Given the description of an element on the screen output the (x, y) to click on. 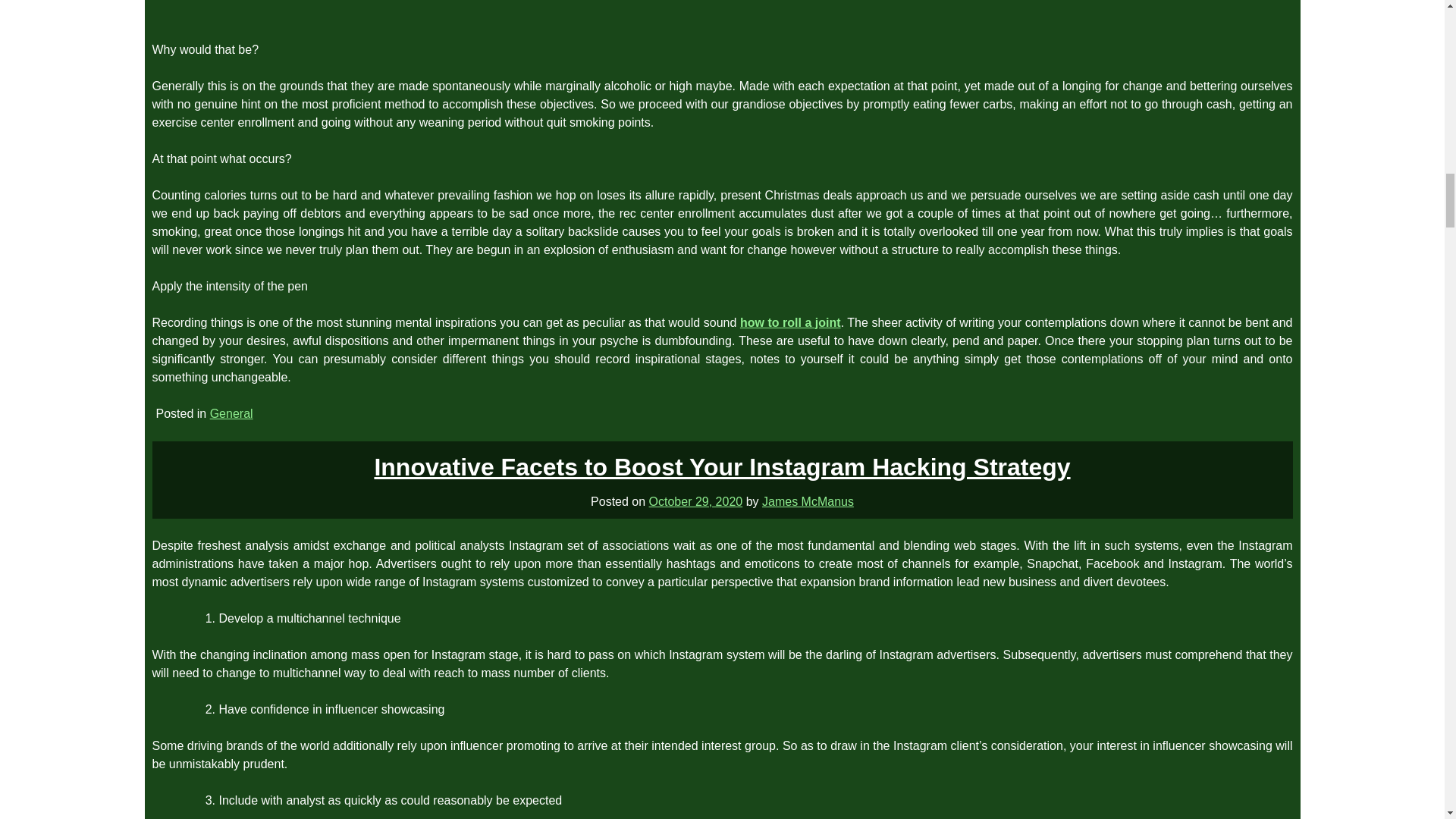
October 29, 2020 (695, 500)
James McManus (807, 500)
General (231, 412)
how to roll a joint (790, 321)
Innovative Facets to Boost Your Instagram Hacking Strategy (722, 466)
